Given the description of an element on the screen output the (x, y) to click on. 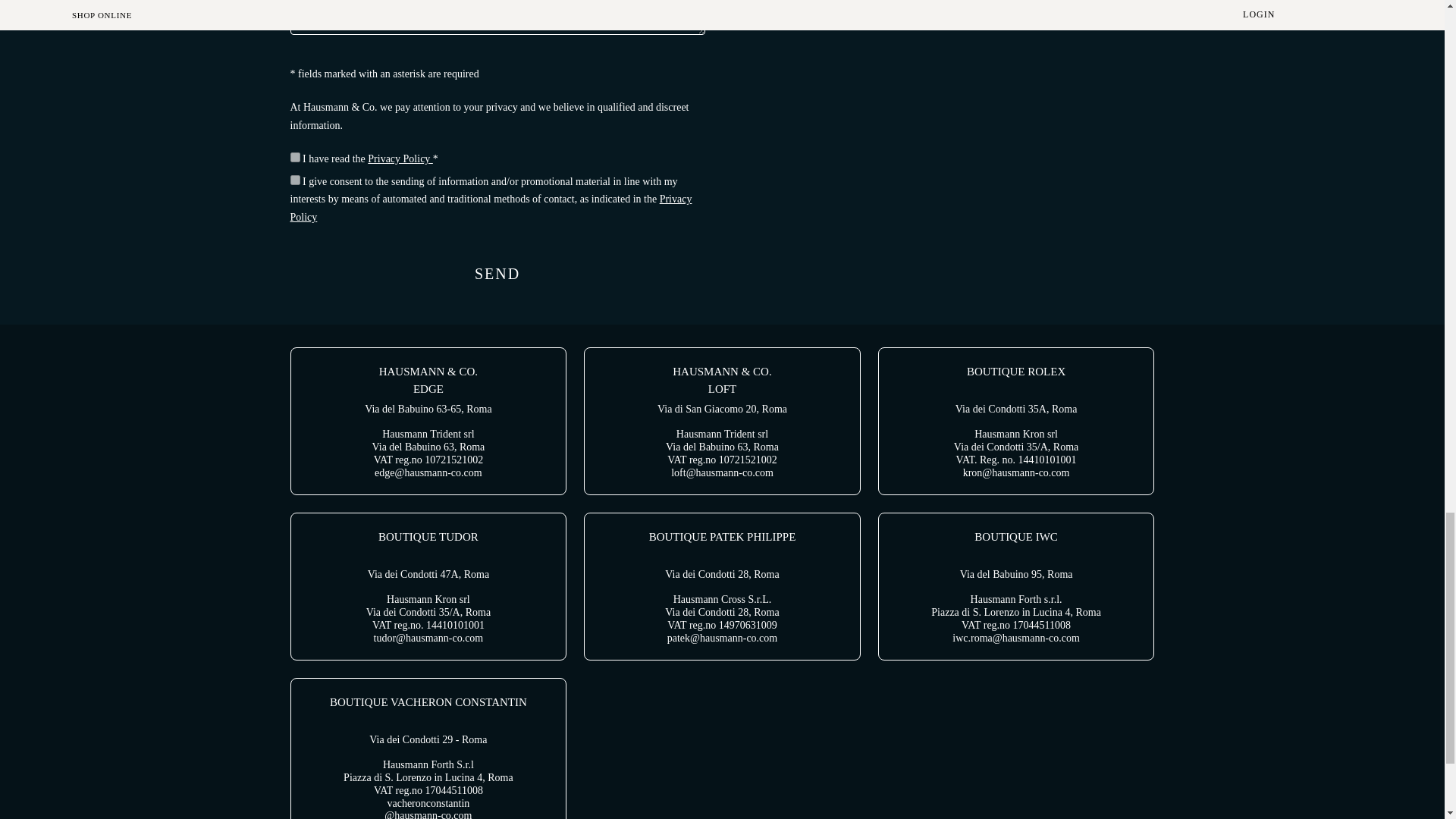
Send (497, 273)
1 (294, 180)
1 (294, 157)
